Given the description of an element on the screen output the (x, y) to click on. 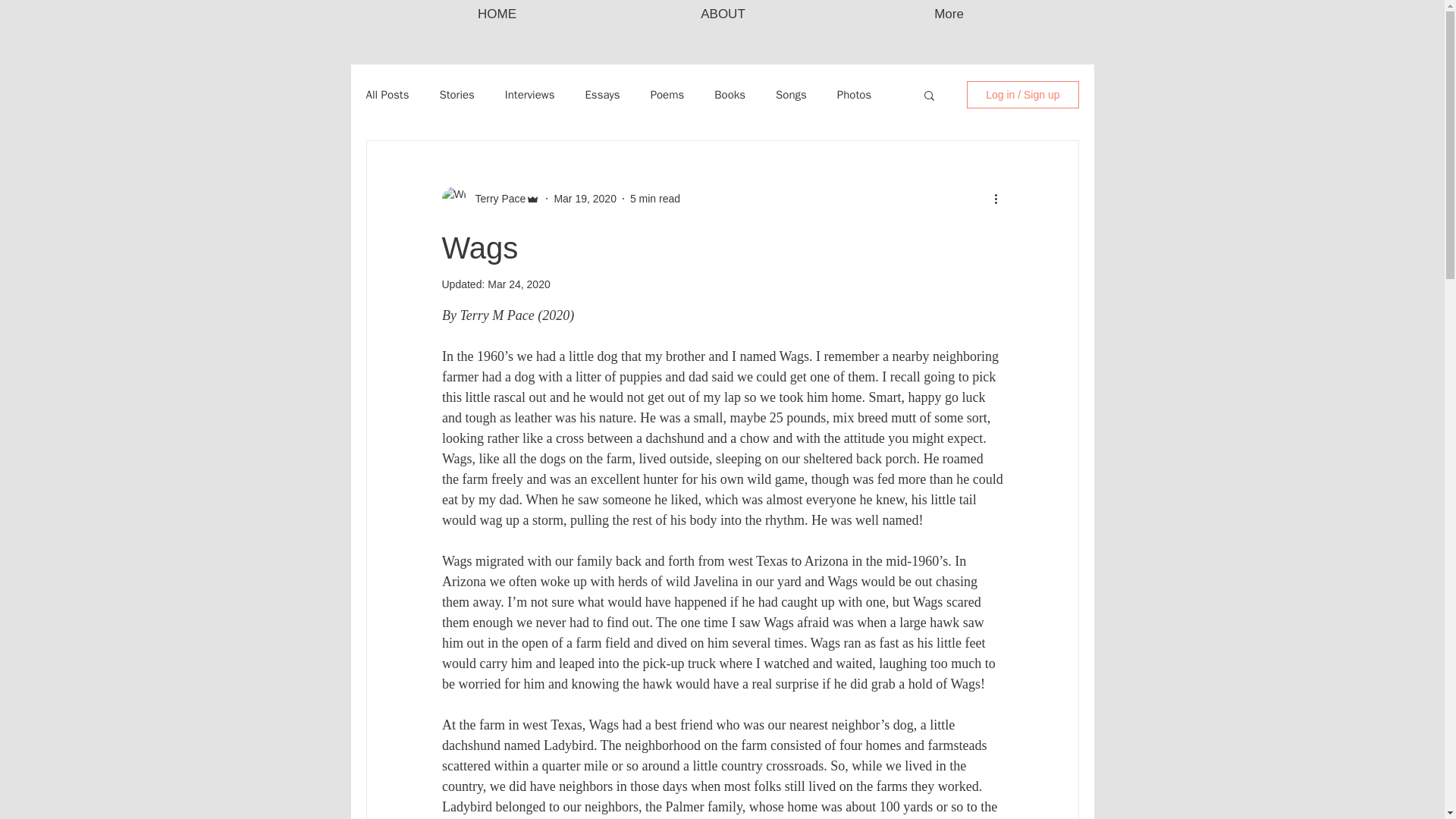
Mar 24, 2020 (518, 284)
5 min read (654, 198)
ABOUT (722, 14)
Mar 19, 2020 (584, 198)
Stories (456, 94)
Poems (667, 94)
Interviews (529, 94)
Terry Pace (495, 198)
Photos (853, 94)
All Posts (387, 94)
